Given the description of an element on the screen output the (x, y) to click on. 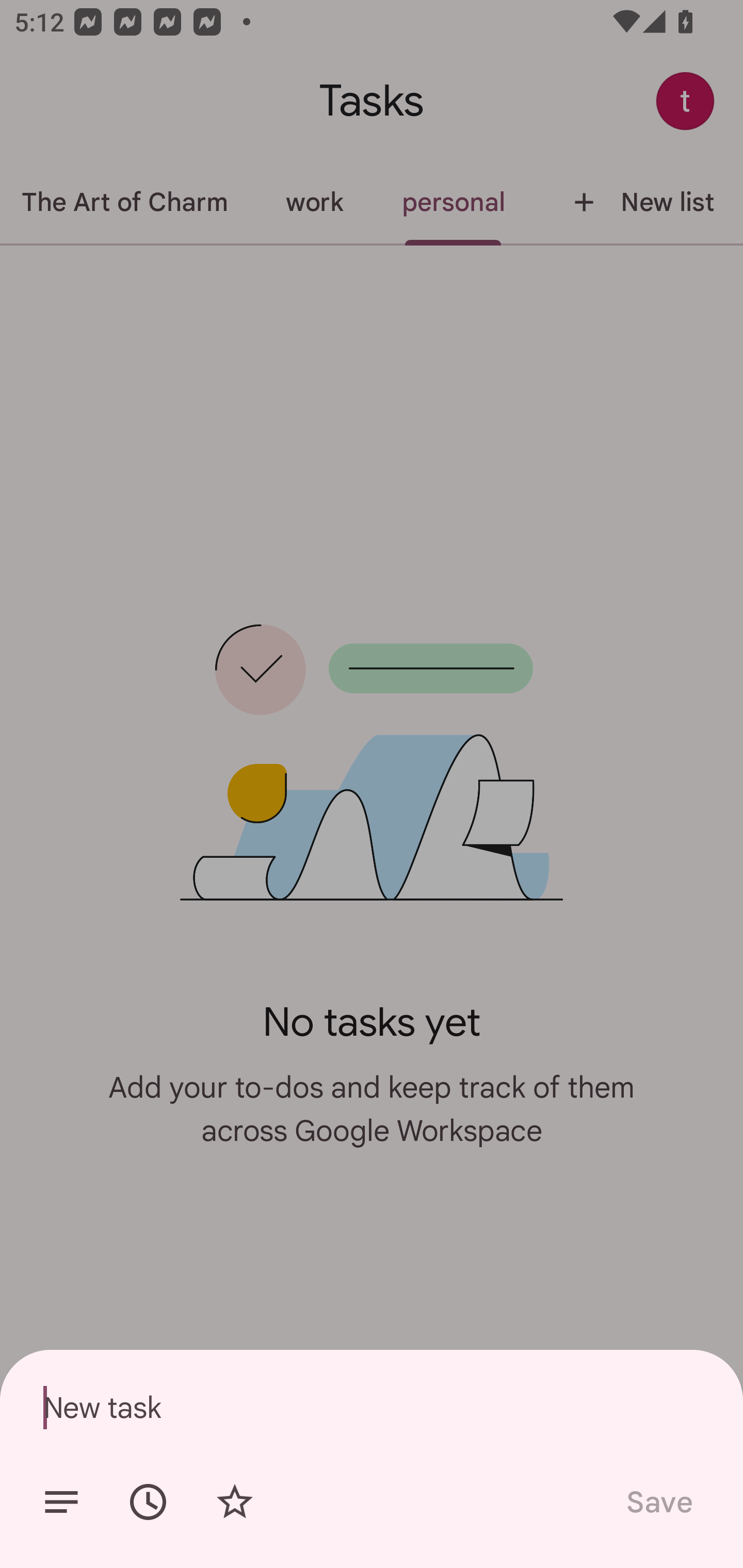
New task (371, 1407)
Save (659, 1501)
Add details (60, 1501)
Set date/time (147, 1501)
Add star (234, 1501)
